Given the description of an element on the screen output the (x, y) to click on. 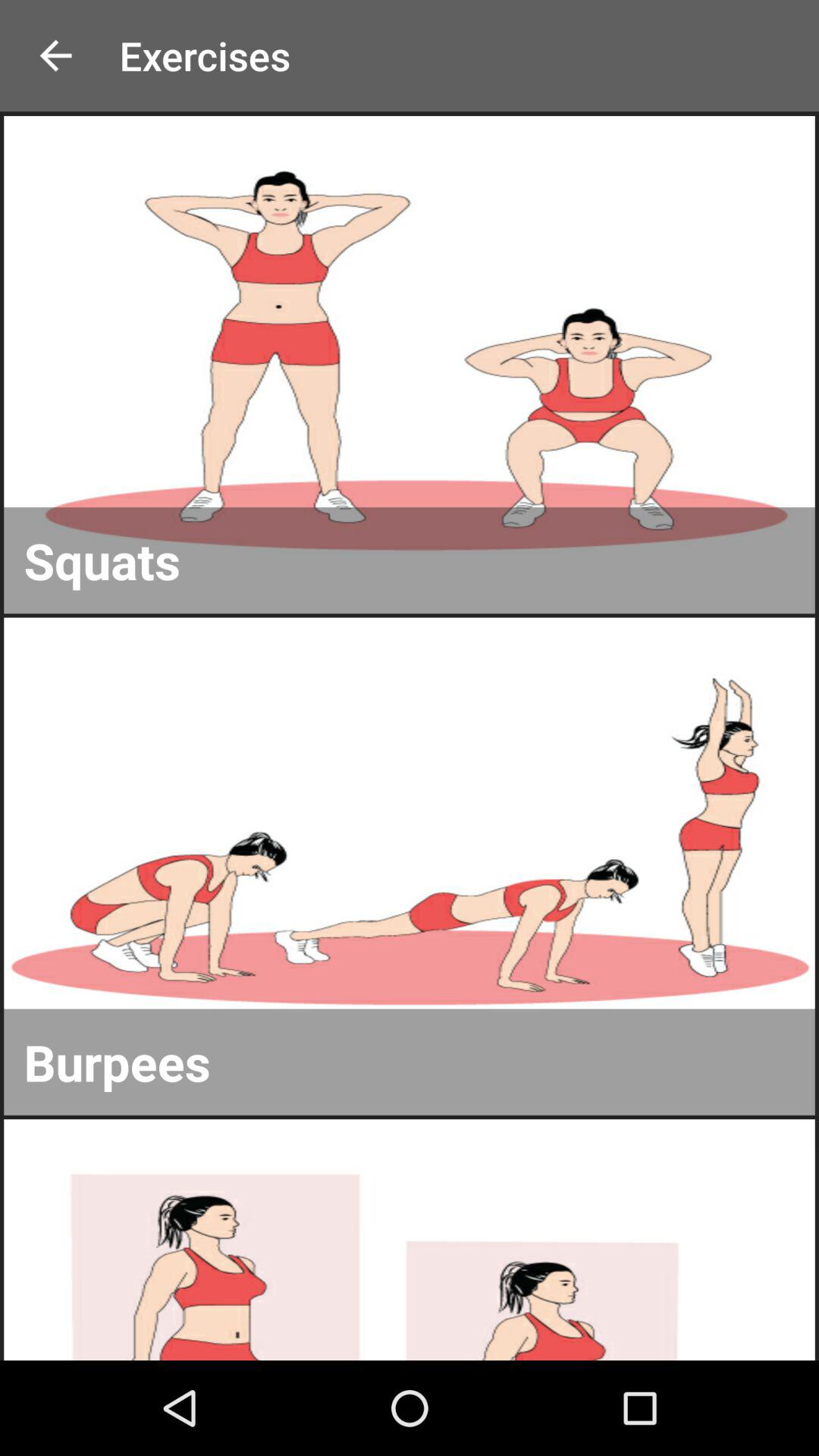
jump to the squats app (409, 560)
